Given the description of an element on the screen output the (x, y) to click on. 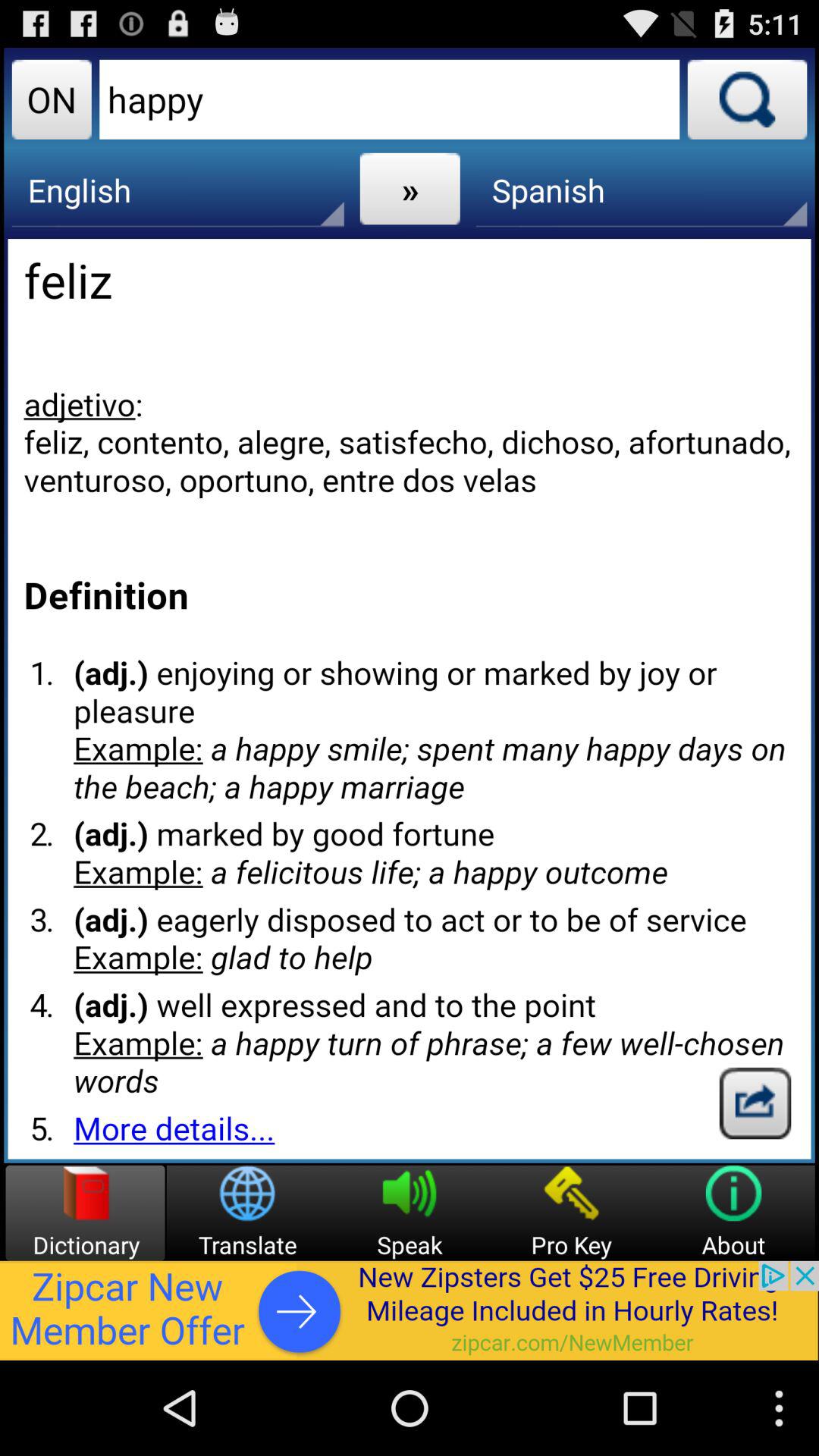
go to google (755, 1103)
